Given the description of an element on the screen output the (x, y) to click on. 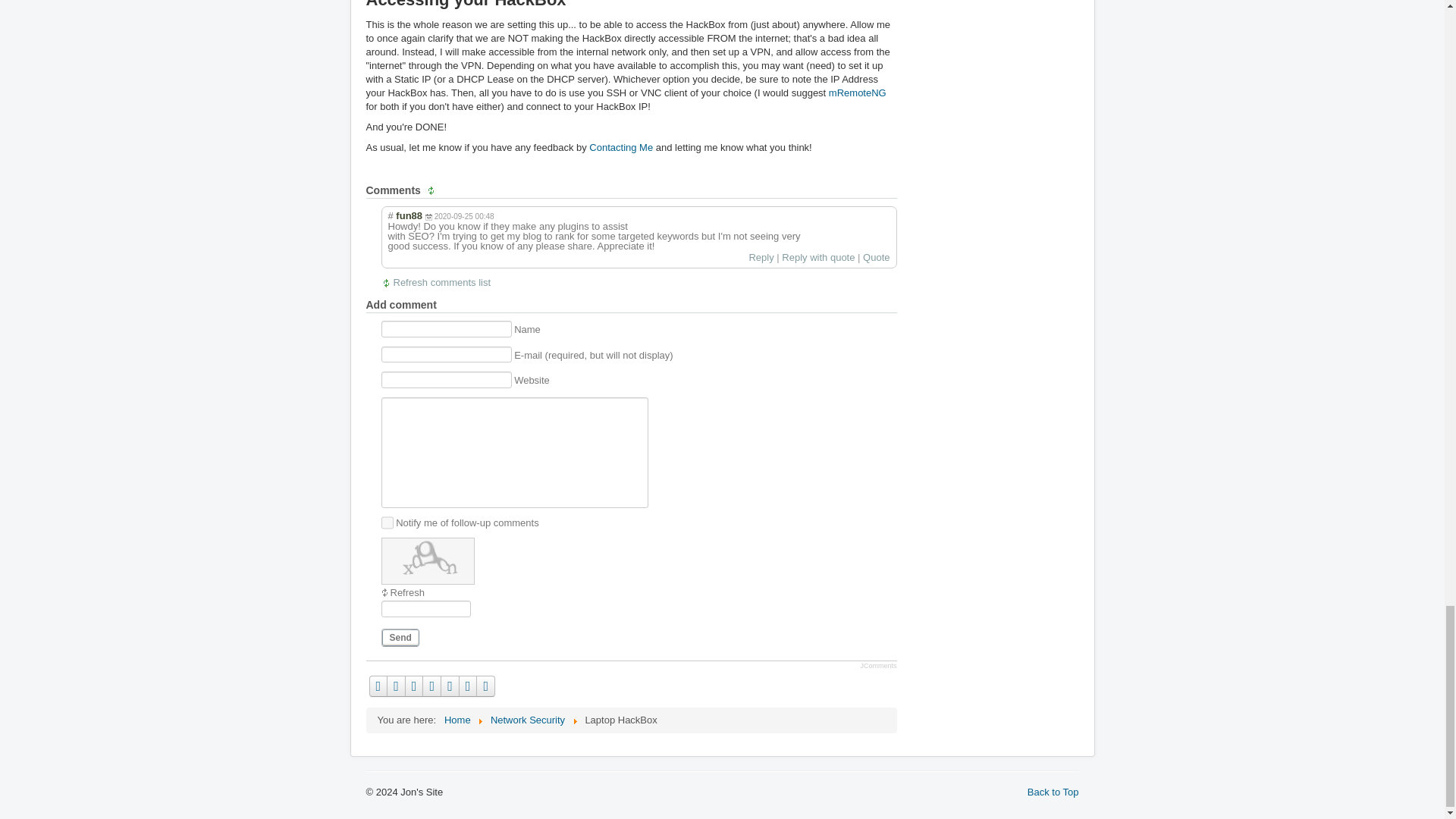
mRemoteNG (857, 92)
JComments (878, 665)
Refresh comments list (435, 282)
Contacting Me (620, 147)
Quote (876, 256)
Send (399, 637)
Reply with quote (817, 256)
JComments (878, 665)
Refresh comments list (435, 282)
Reply (760, 256)
